Given the description of an element on the screen output the (x, y) to click on. 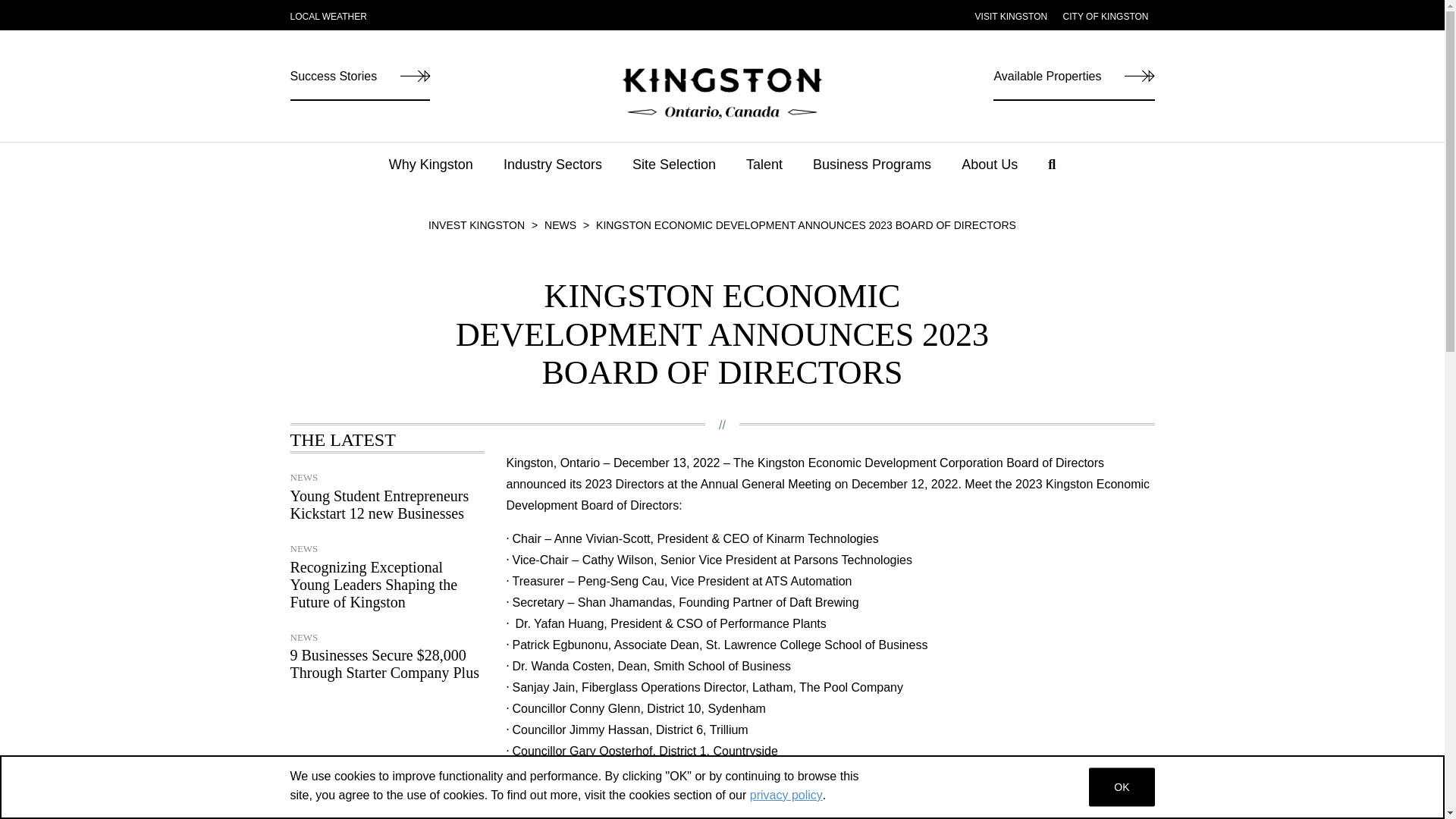
Available Properties (1073, 83)
VISIT KINGSTON (1011, 16)
Site Selection (673, 172)
Industry Sectors (552, 172)
LOCAL WEATHER (327, 16)
Why Kingston (430, 172)
Success Stories (359, 83)
Invest Kingston (476, 224)
Talent (764, 172)
CITY OF KINGSTON (1105, 16)
